Given the description of an element on the screen output the (x, y) to click on. 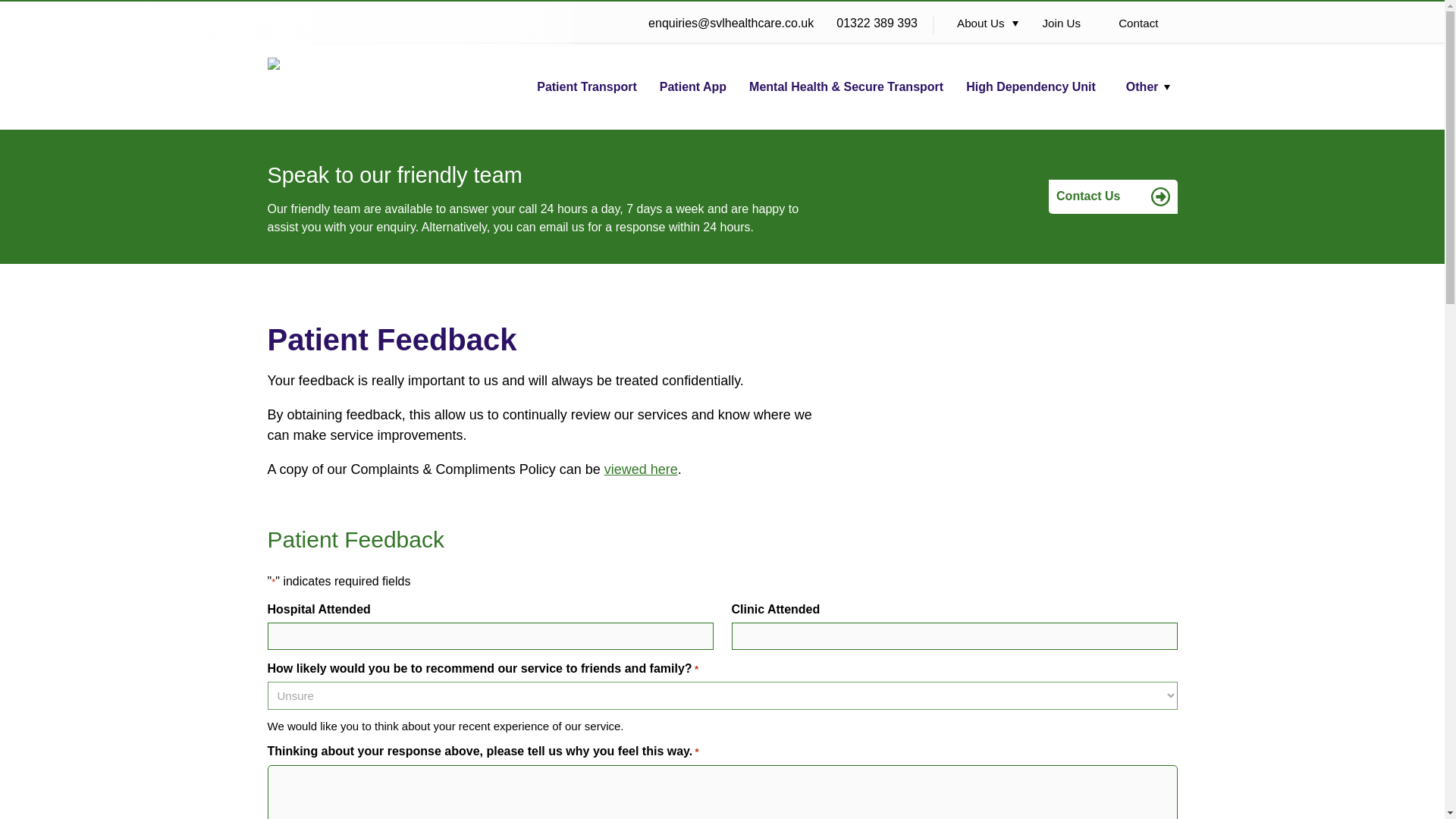
High Dependency Unit (1031, 87)
Contact (1143, 22)
Patient Transport (587, 87)
Other (1147, 86)
viewed here (641, 468)
About Us (986, 22)
01322 389 393 (876, 29)
Patient App (692, 87)
Contact Us (1112, 196)
Join Us (1066, 22)
